Given the description of an element on the screen output the (x, y) to click on. 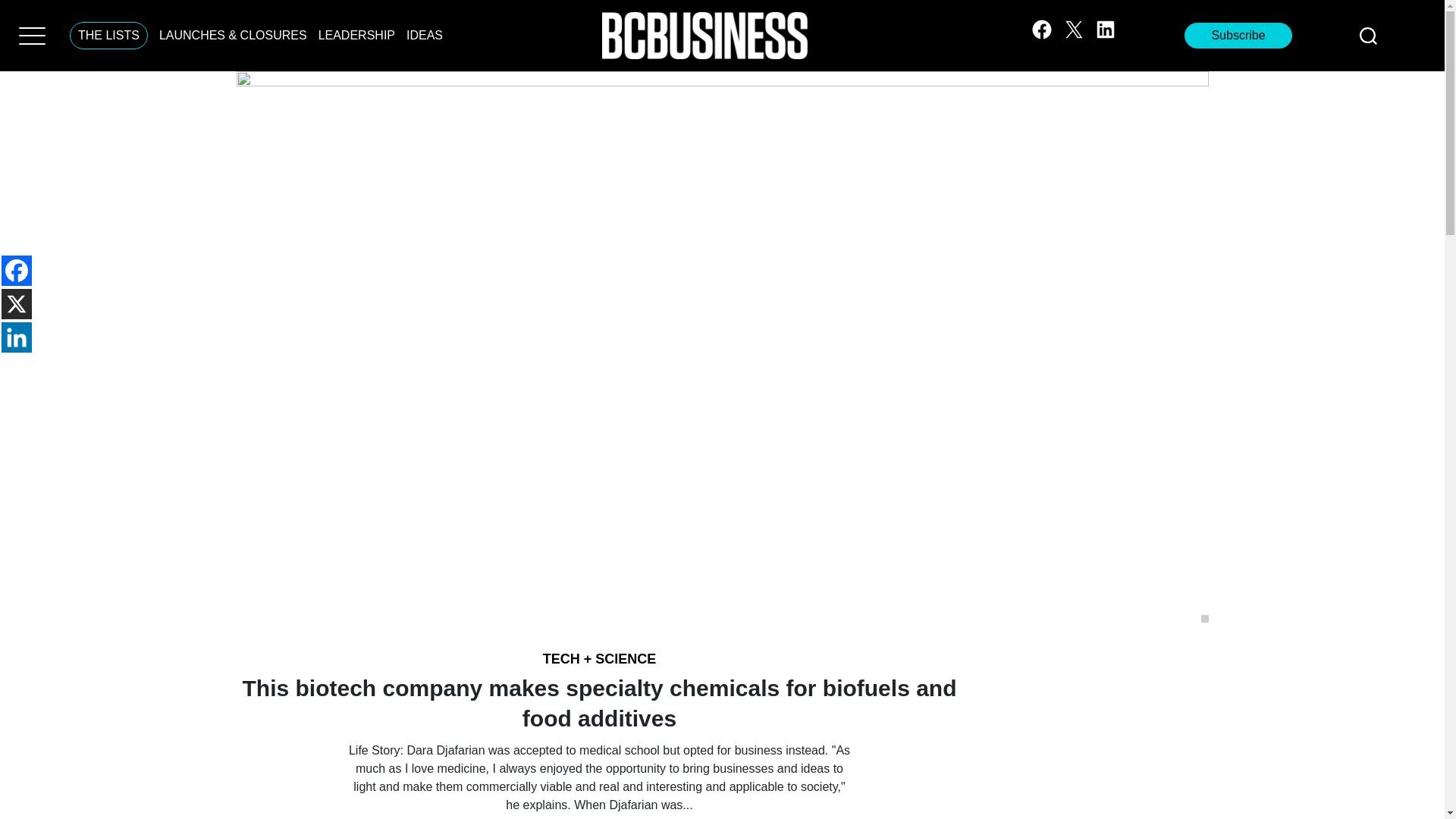
X (16, 304)
Facebook (16, 270)
Linkedin (16, 337)
